Given the description of an element on the screen output the (x, y) to click on. 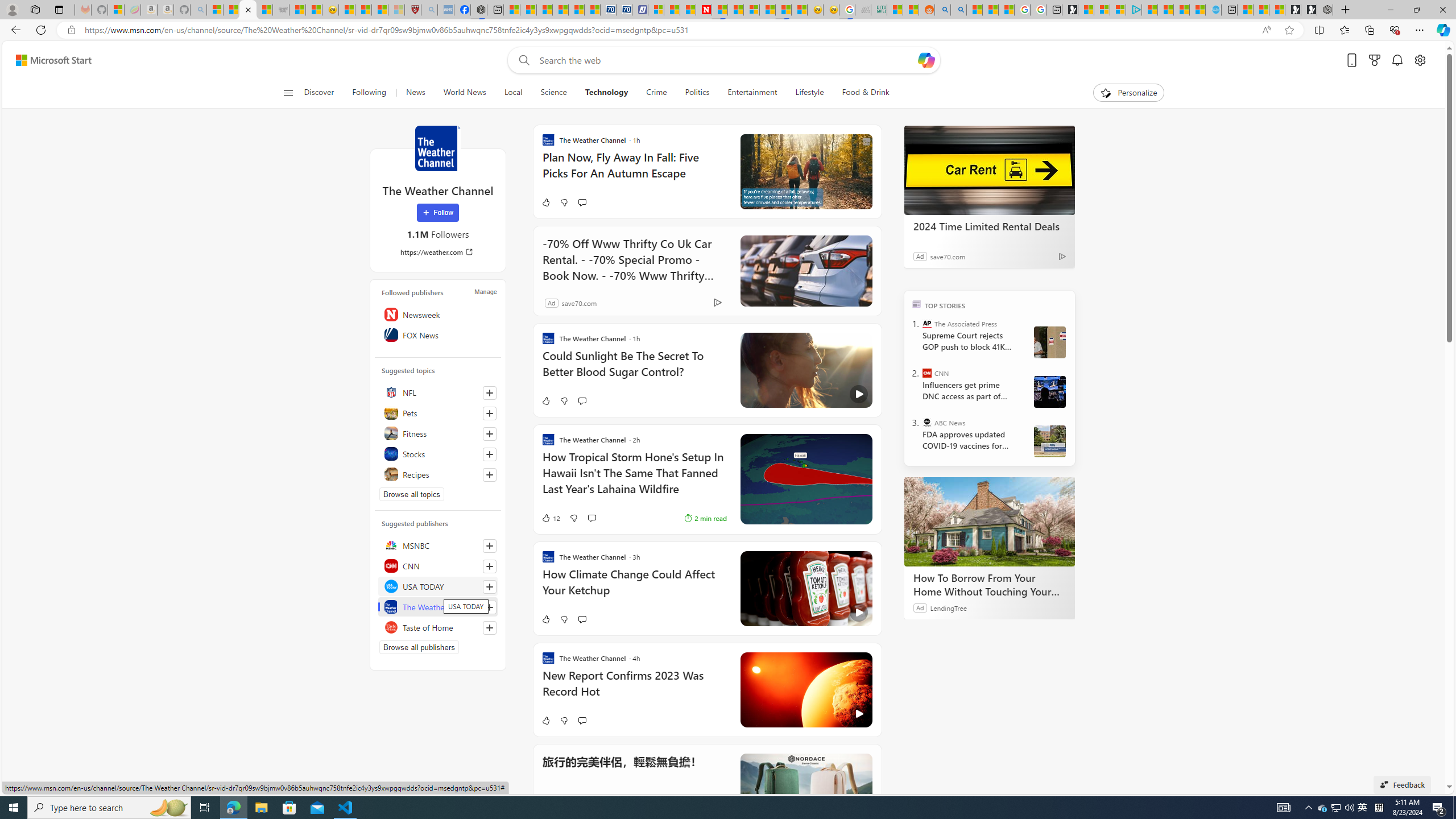
Recipes (437, 474)
